Given the description of an element on the screen output the (x, y) to click on. 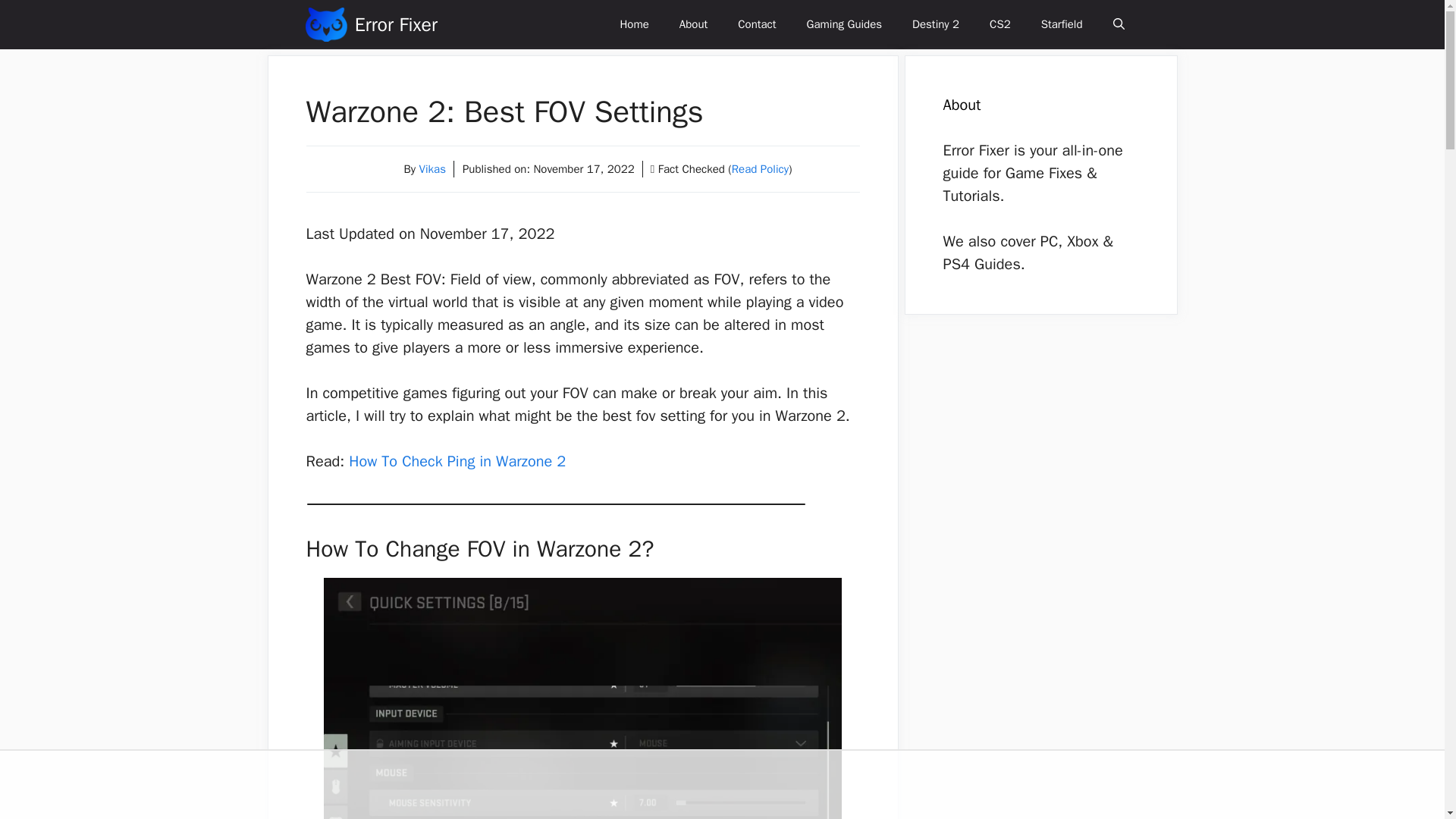
Destiny 2 (935, 24)
Starfield (1061, 24)
Vikas (432, 169)
Contact (756, 24)
About (692, 24)
Error Fixer (396, 24)
CS2 (1000, 24)
Gaming Guides (844, 24)
Read Policy (760, 169)
How To Check Ping in Warzone 2 (457, 461)
Home (633, 24)
Error Fixer (325, 24)
